Given the description of an element on the screen output the (x, y) to click on. 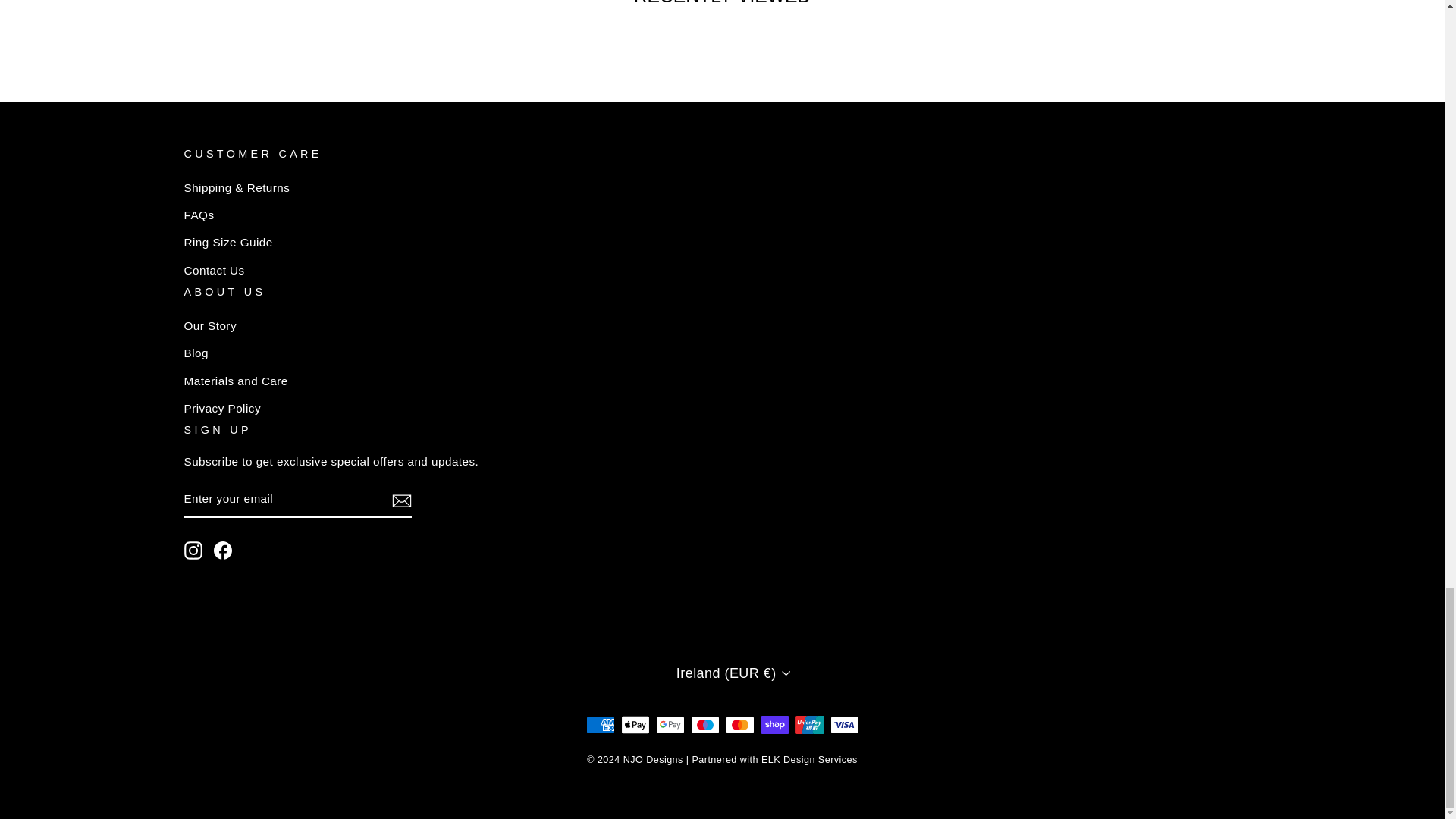
NJODesigns on Instagram (192, 549)
icon-email (400, 500)
Apple Pay (634, 724)
instagram (192, 549)
American Express (599, 724)
NJODesigns on Facebook (222, 549)
